Given the description of an element on the screen output the (x, y) to click on. 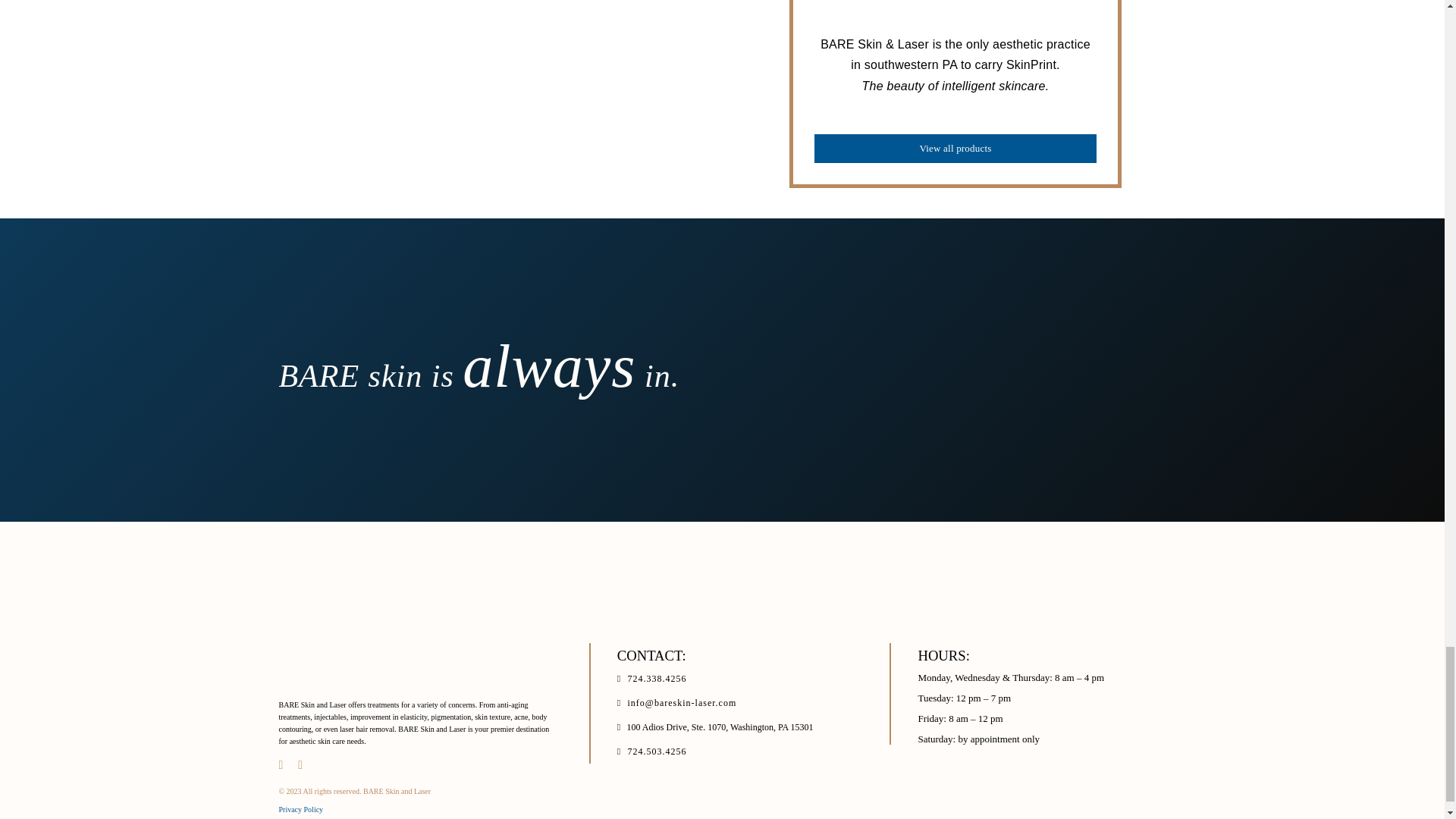
Products2 (537, 83)
skinprint-logo-2 (954, 17)
